Given the description of an element on the screen output the (x, y) to click on. 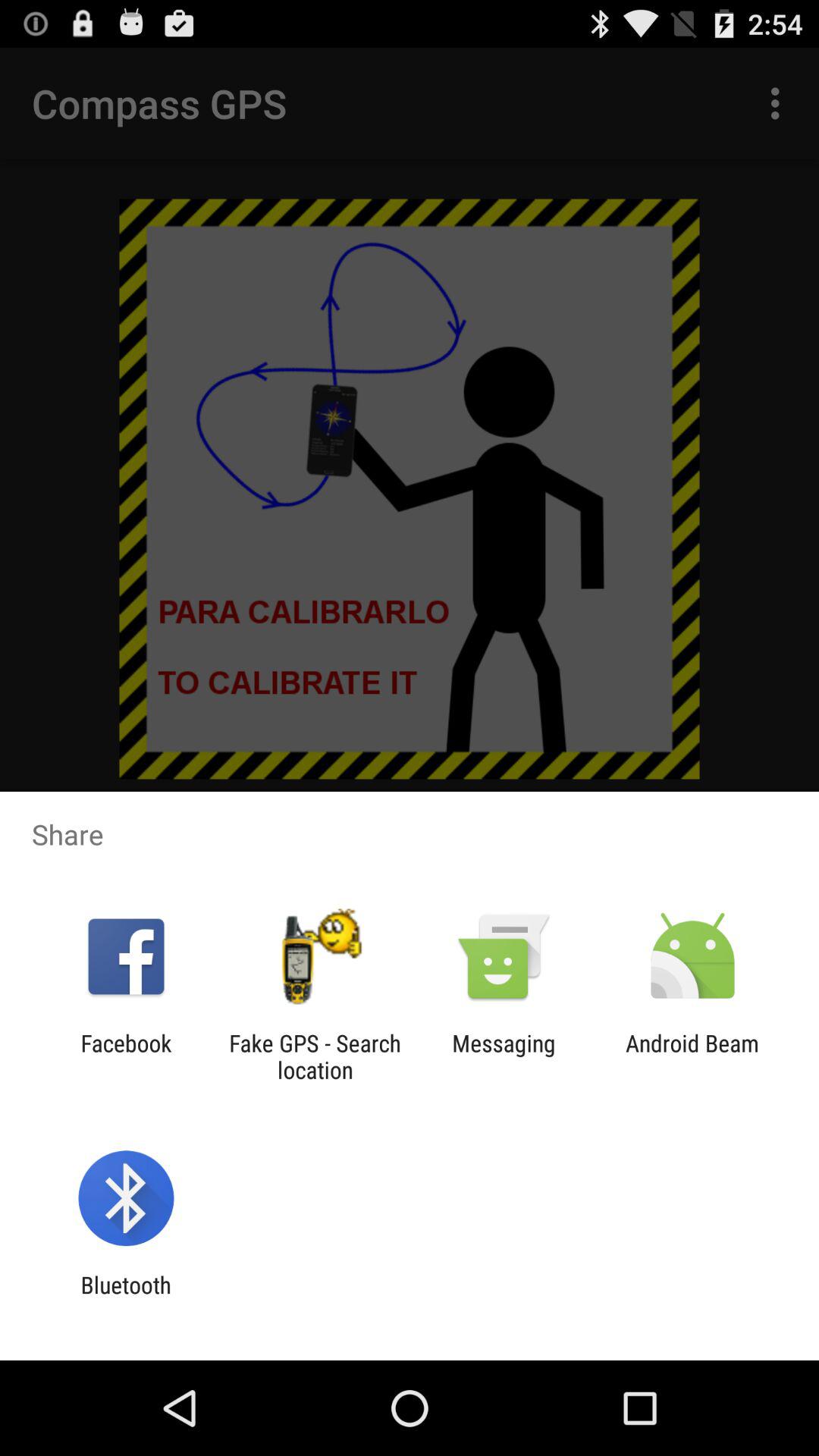
select app to the right of the fake gps search item (503, 1056)
